Given the description of an element on the screen output the (x, y) to click on. 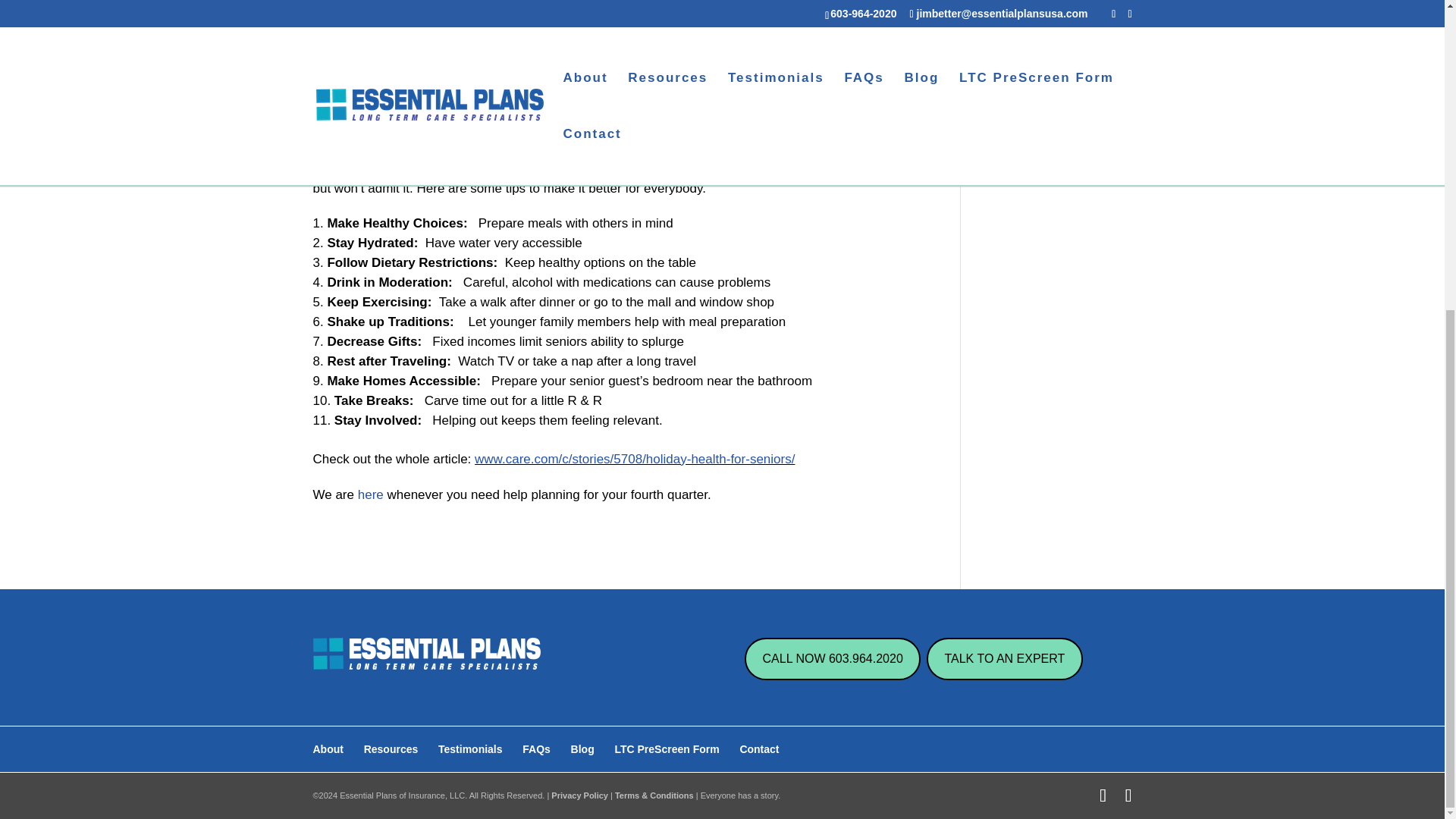
Contact (758, 748)
CALL NOW 603.964.2020 (832, 659)
TALK TO AN EXPERT (1004, 659)
Resources (391, 748)
here (371, 494)
FAQs (536, 748)
Blog (582, 748)
LTC PreScreen Form (666, 748)
About (327, 748)
Testimonials (470, 748)
